Given the description of an element on the screen output the (x, y) to click on. 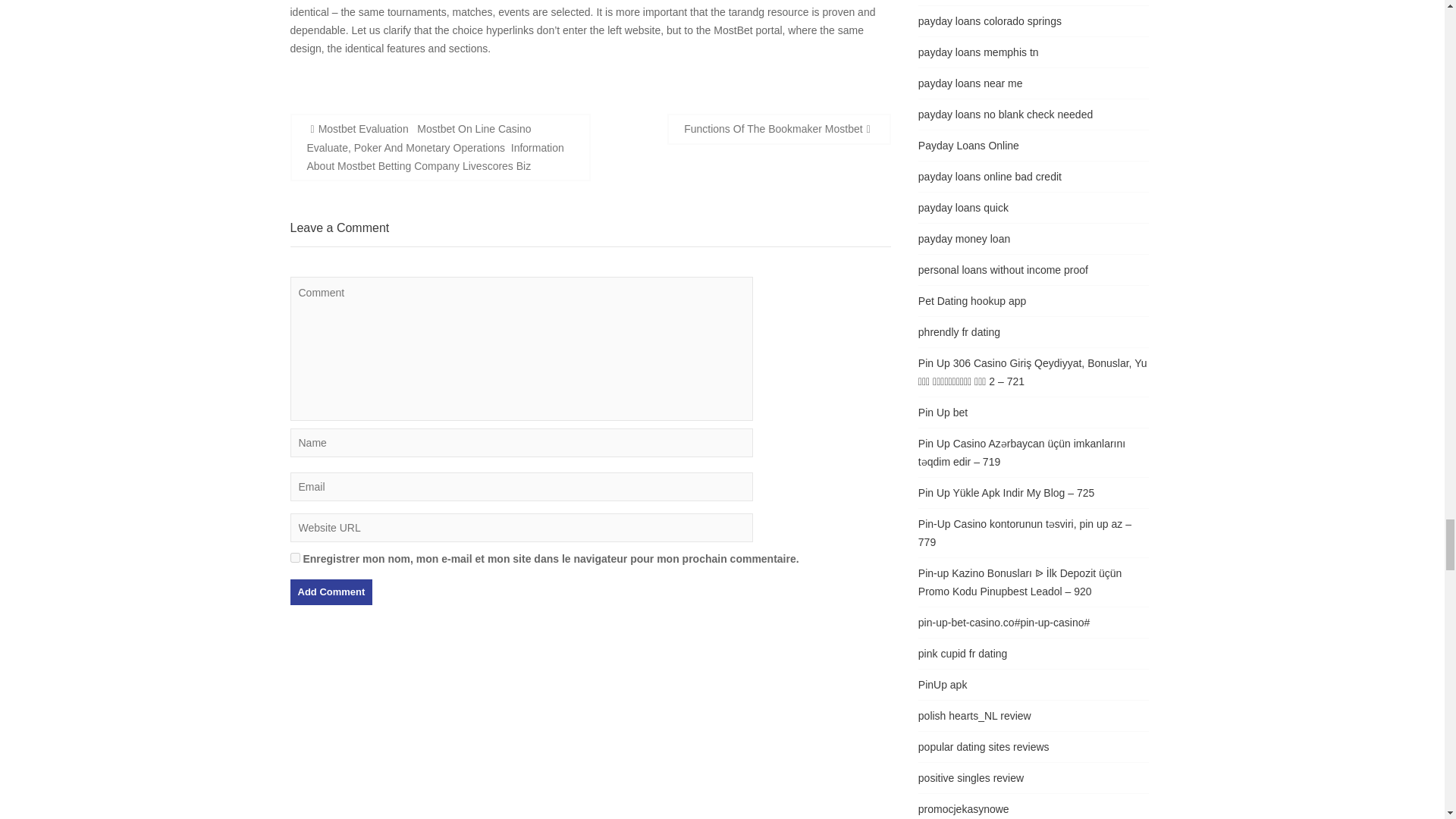
Functions Of The Bookmaker Mostbet (778, 128)
Add Comment (330, 592)
Add Comment (330, 592)
yes (294, 557)
